Given the description of an element on the screen output the (x, y) to click on. 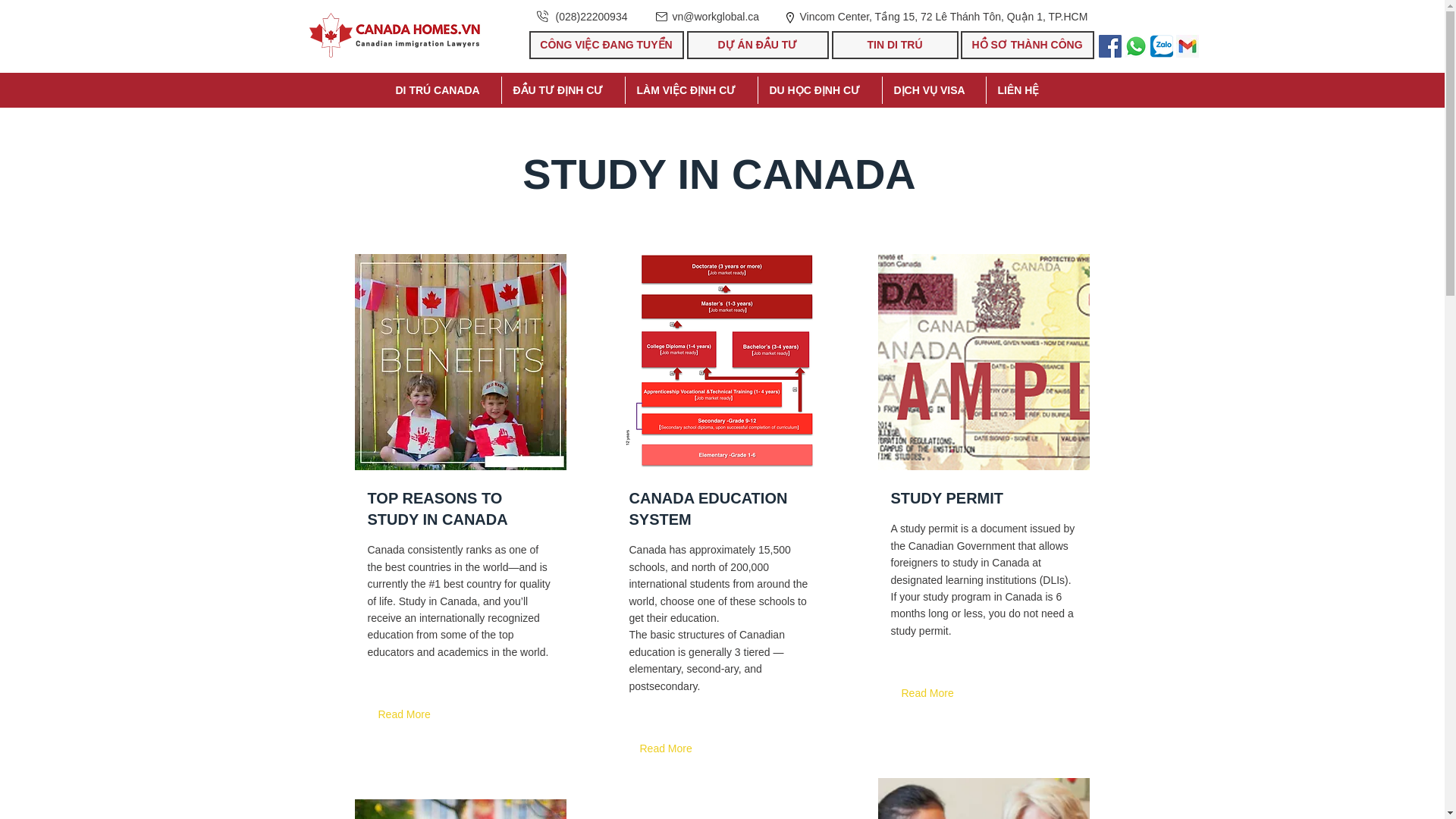
pic04.jpg (983, 798)
Read More (406, 714)
5.jpg (460, 809)
Study Permit Sample1.png (983, 361)
Read More (669, 748)
over-990x1024.png (721, 361)
study-permit.jpeg (460, 361)
Read More (930, 693)
